Given the description of an element on the screen output the (x, y) to click on. 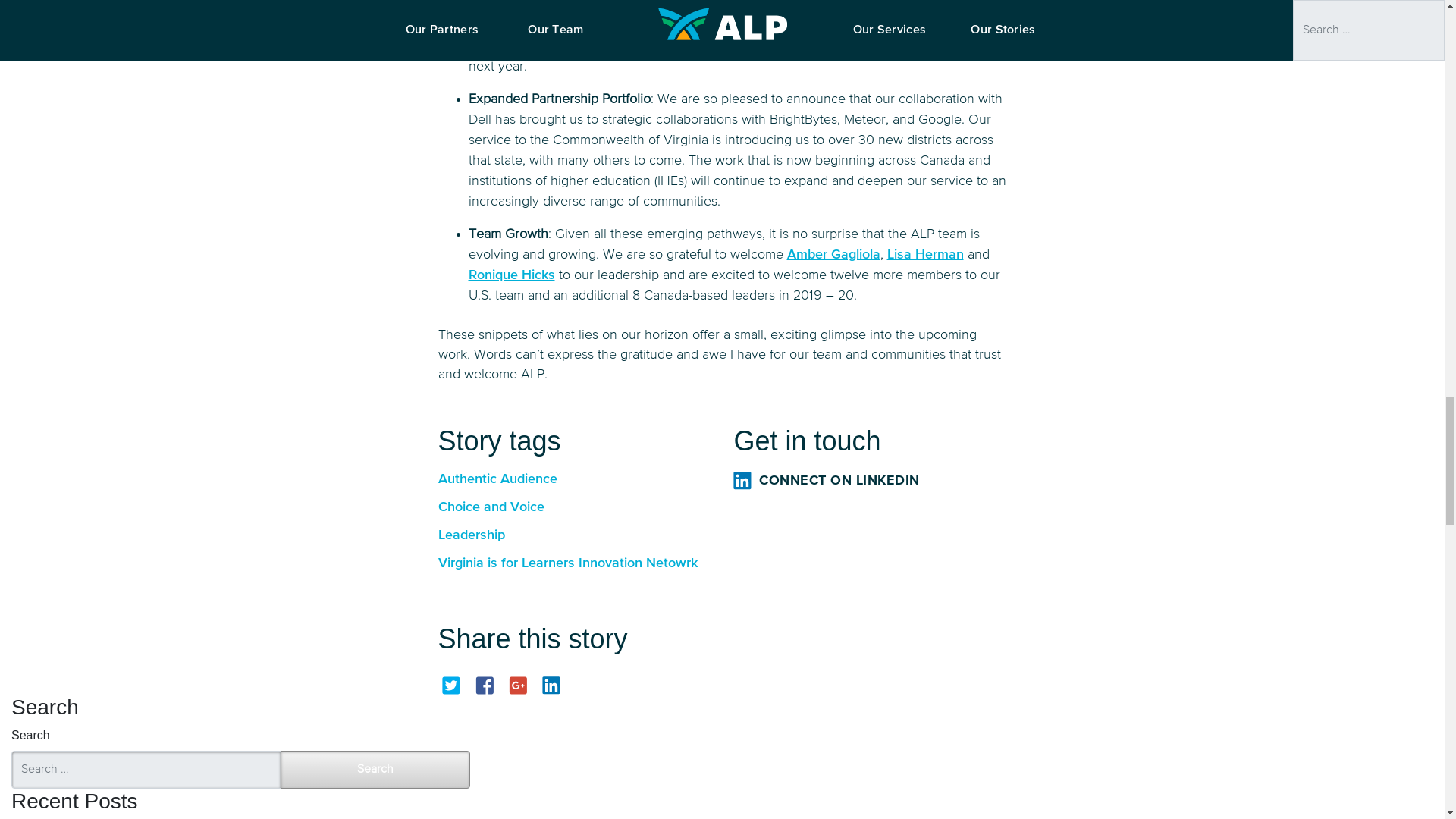
Search (375, 769)
Authentic Audience (574, 478)
Leadership (574, 534)
Lisa Herman (924, 254)
CONNECT ON LINKEDIN (869, 479)
Virginia is for Learners Innovation Netowrk (574, 563)
Choice and Voice (574, 507)
Search (375, 769)
Ronique Hicks (511, 274)
Amber Gagliola (833, 254)
